Given the description of an element on the screen output the (x, y) to click on. 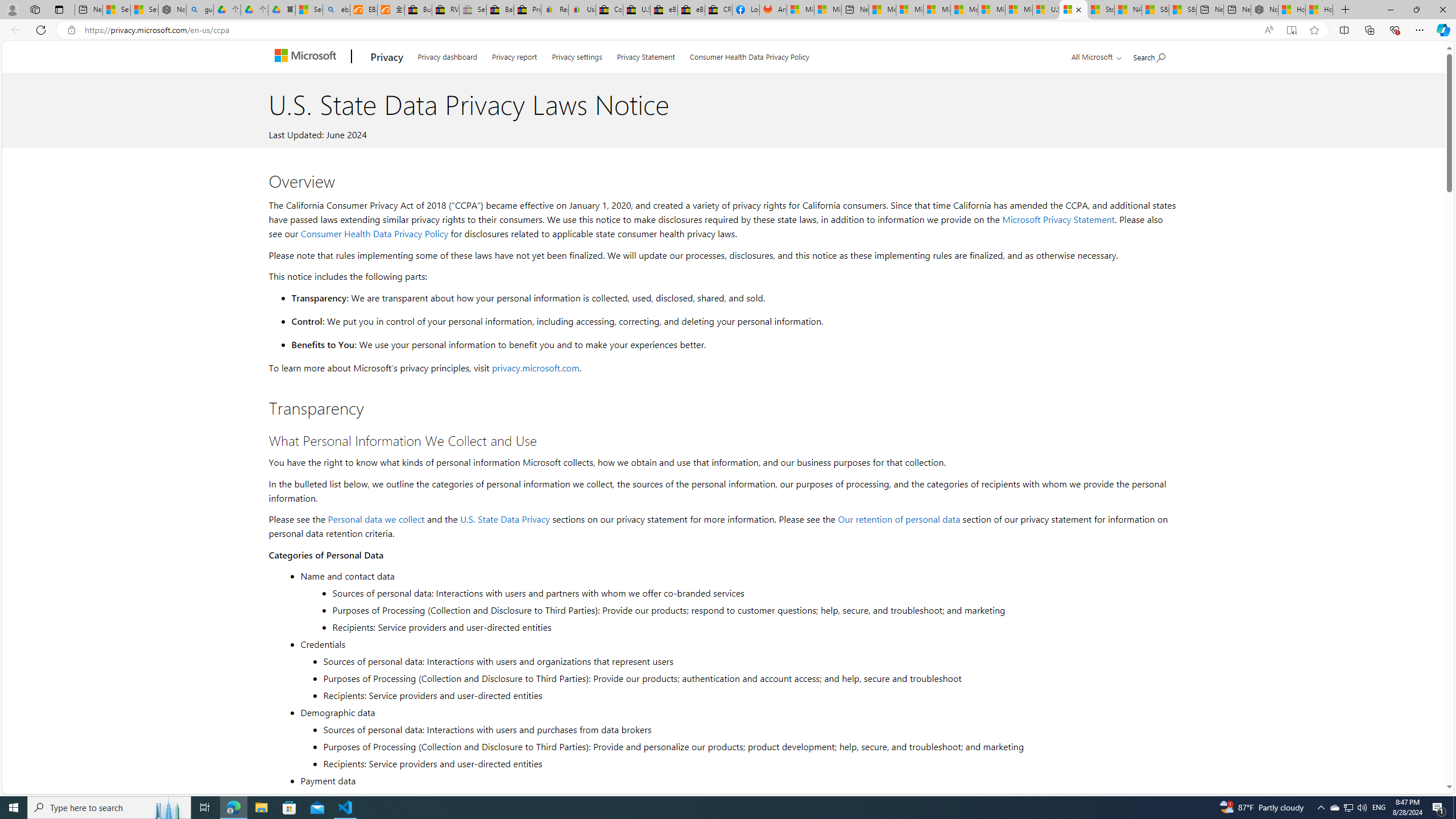
Recipients: Service providers and user-directed entities (748, 763)
Microsoft (306, 56)
Read aloud this page (Ctrl+Shift+U) (1268, 29)
Consumer Health Data Privacy Policy - eBay Inc. (609, 9)
S&P 500, Nasdaq end lower, weighed by Nvidia dip | Watch (1182, 9)
Our retention of personal data (898, 518)
ebay - Search (336, 9)
